Given the description of an element on the screen output the (x, y) to click on. 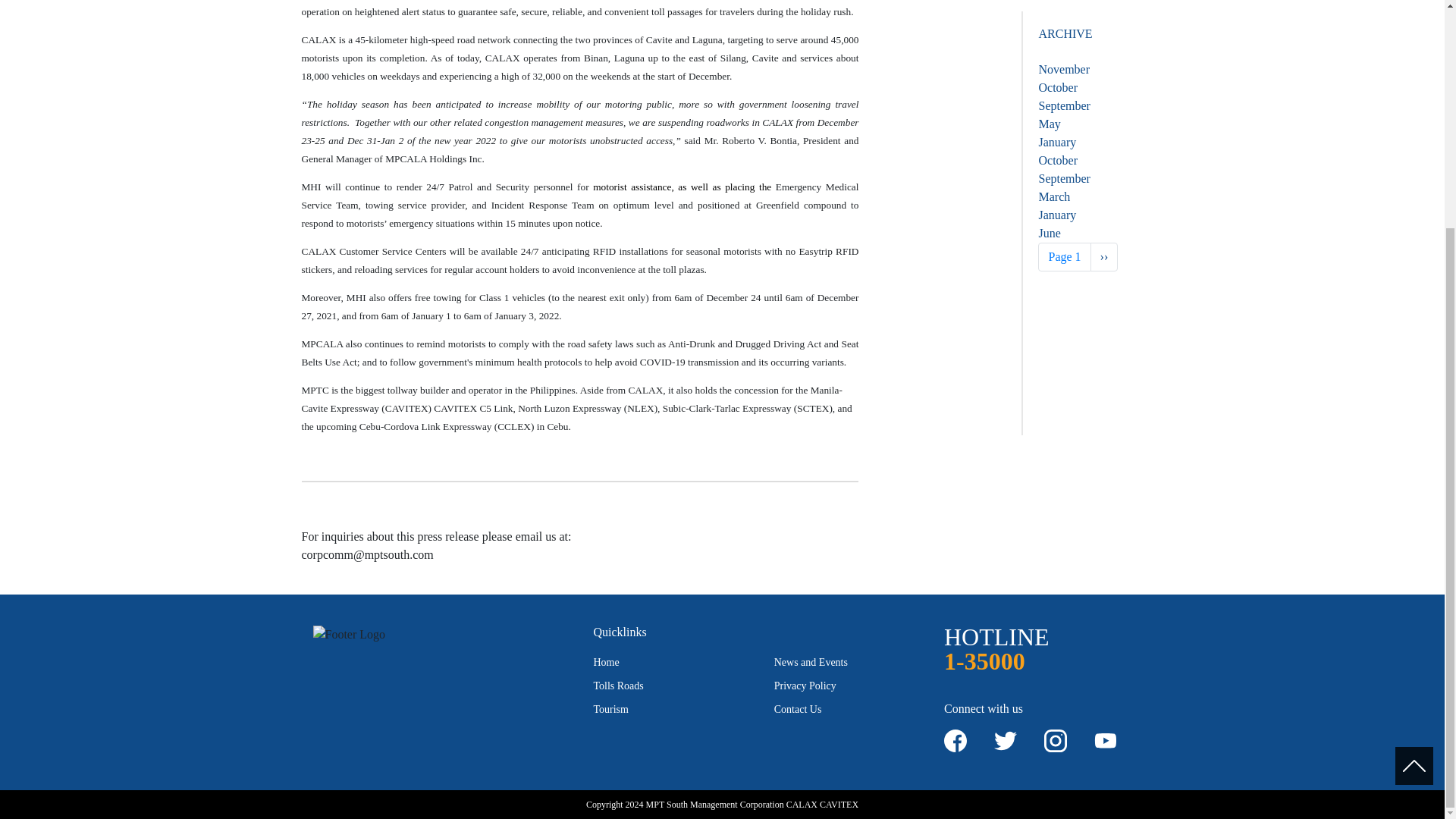
Instagram (1055, 740)
Youtube (1105, 740)
Twitter (1005, 740)
January (1056, 9)
Facebook (954, 740)
June (1048, 27)
Go to next page (1104, 51)
